Given the description of an element on the screen output the (x, y) to click on. 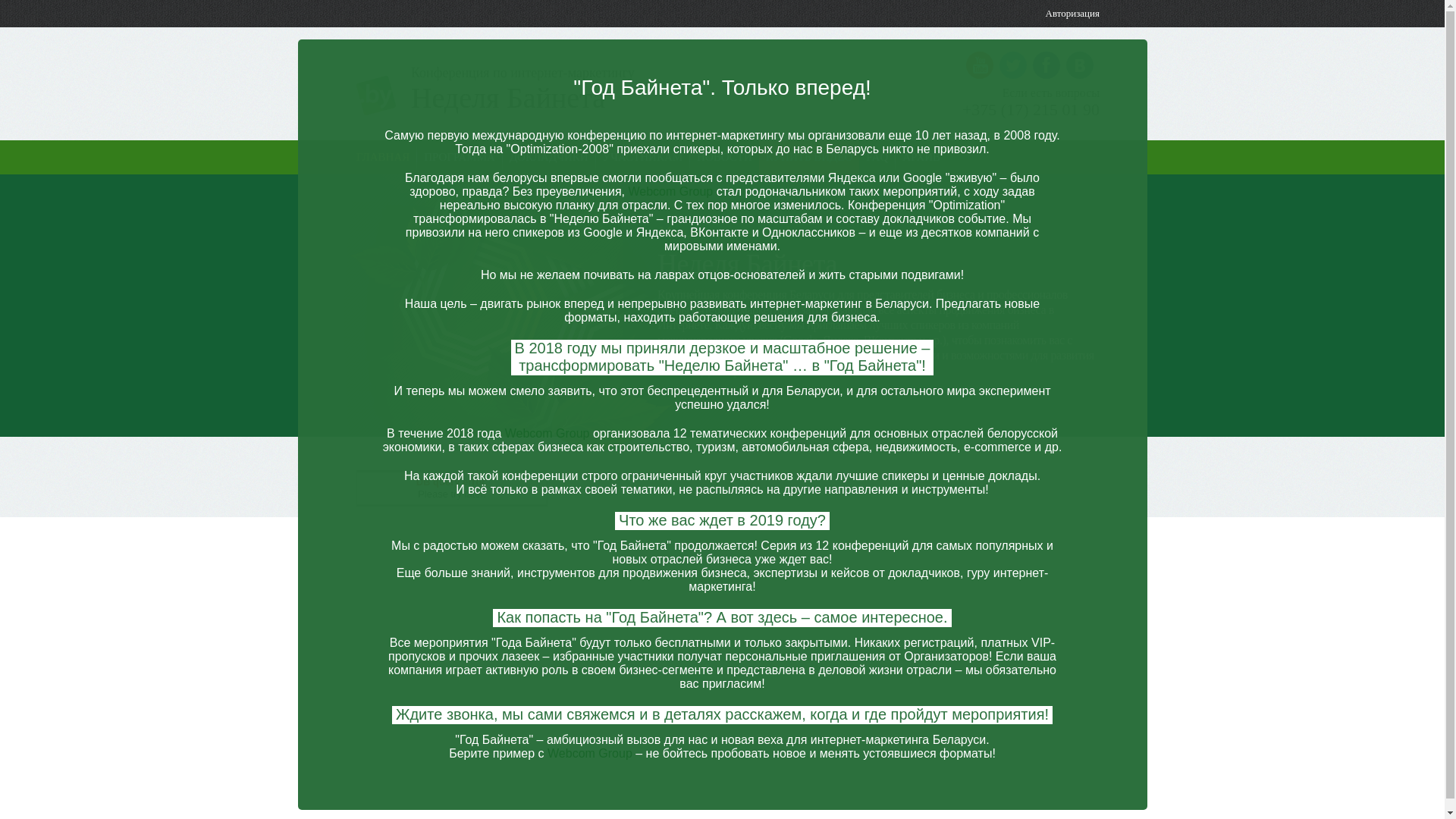
Webcom Group Element type: text (669, 191)
+375 (17) 215 01 90 Element type: text (1030, 109)
Webcom Group Element type: text (589, 752)
FAQ Element type: text (877, 156)
Webcom Group Element type: text (547, 432)
